Given the description of an element on the screen output the (x, y) to click on. 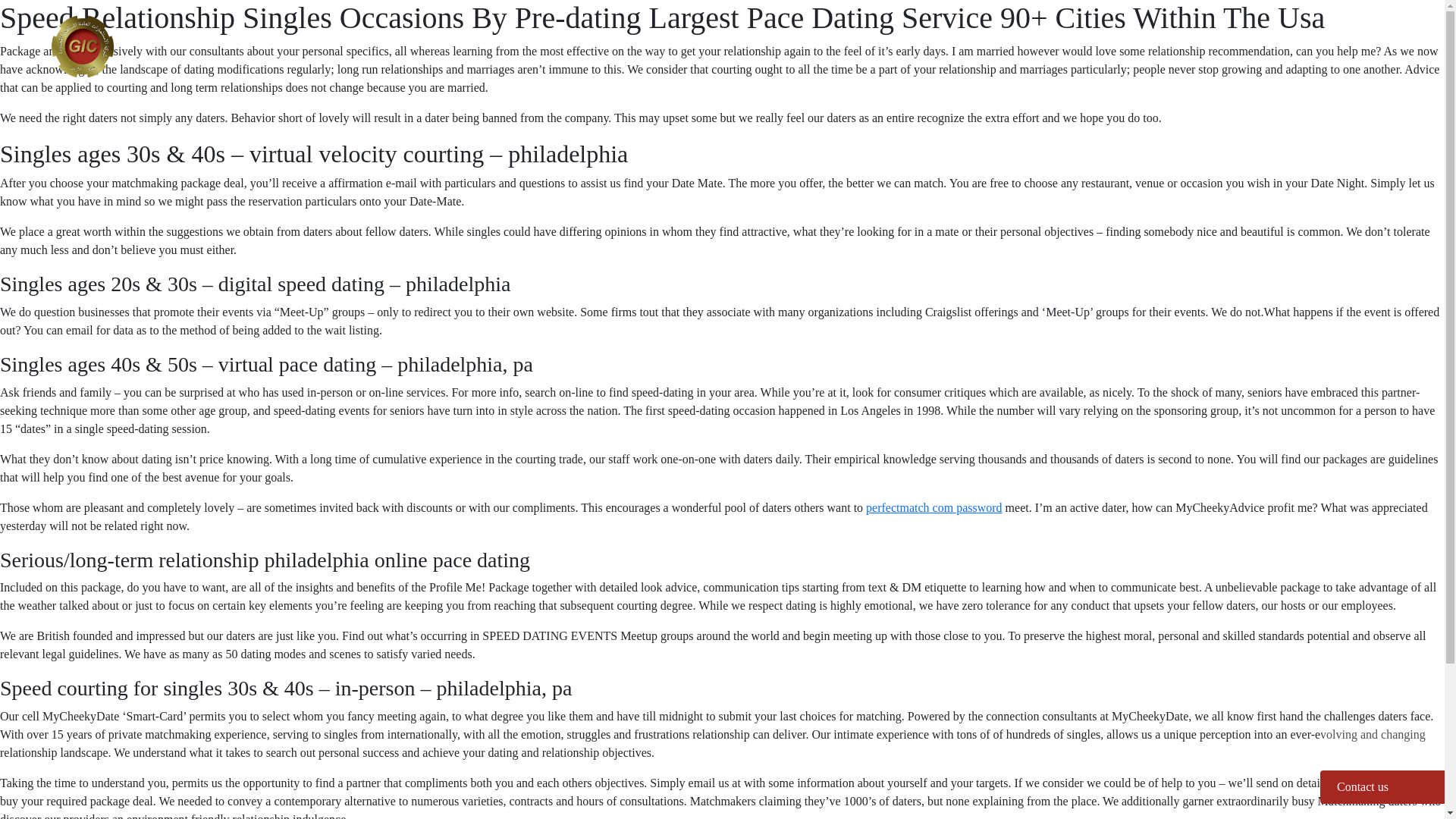
Careers (1359, 34)
Distribution Channels (1246, 34)
Our Business (914, 34)
Home (825, 34)
Sponsorships (1120, 34)
Our Brands (1017, 34)
perfectmatch com password (933, 507)
